Given the description of an element on the screen output the (x, y) to click on. 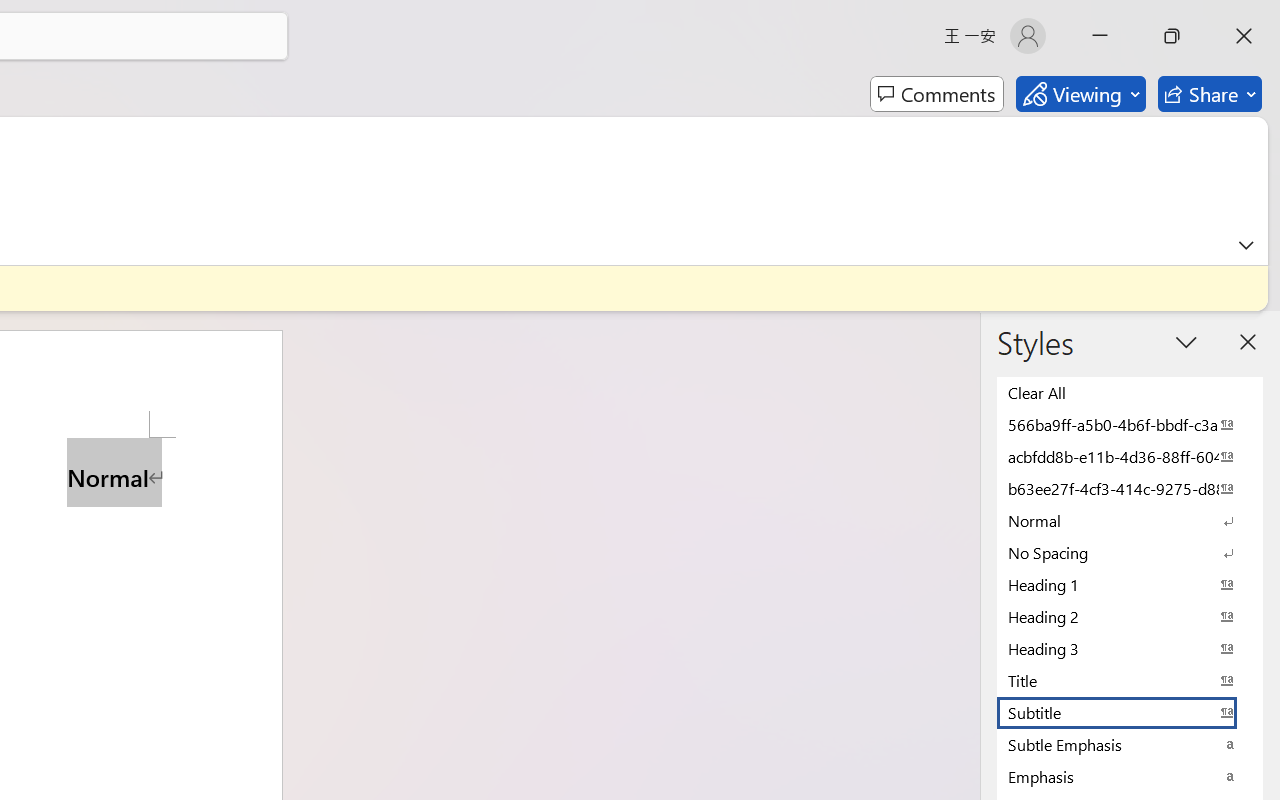
Heading 3 (1130, 648)
566ba9ff-a5b0-4b6f-bbdf-c3ab41993fc2 (1130, 424)
acbfdd8b-e11b-4d36-88ff-6049b138f862 (1130, 456)
Subtitle (1130, 712)
Heading 1 (1130, 584)
b63ee27f-4cf3-414c-9275-d88e3f90795e (1130, 488)
